Given the description of an element on the screen output the (x, y) to click on. 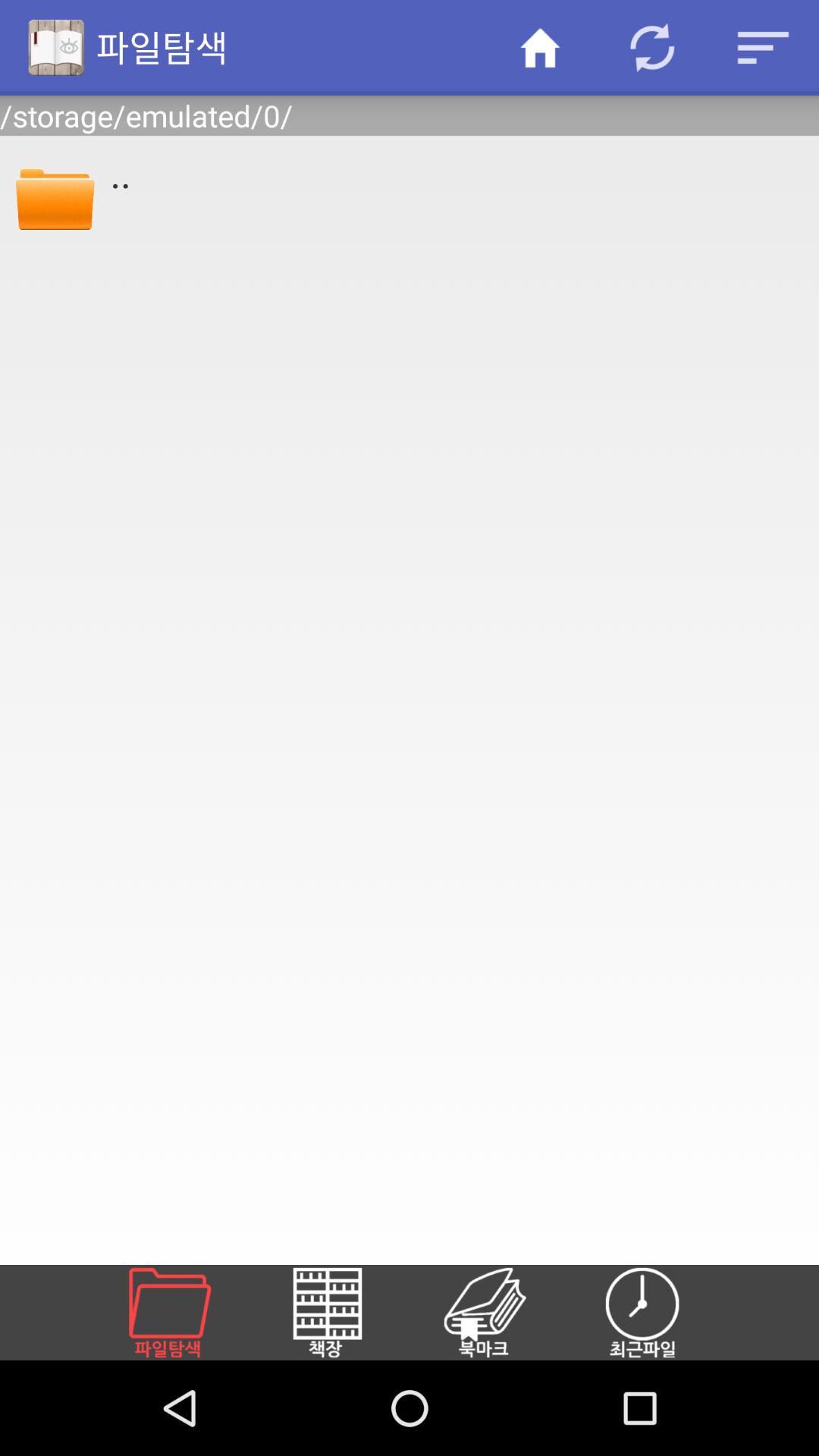
launch icon to the left of the .. app (55, 195)
